Given the description of an element on the screen output the (x, y) to click on. 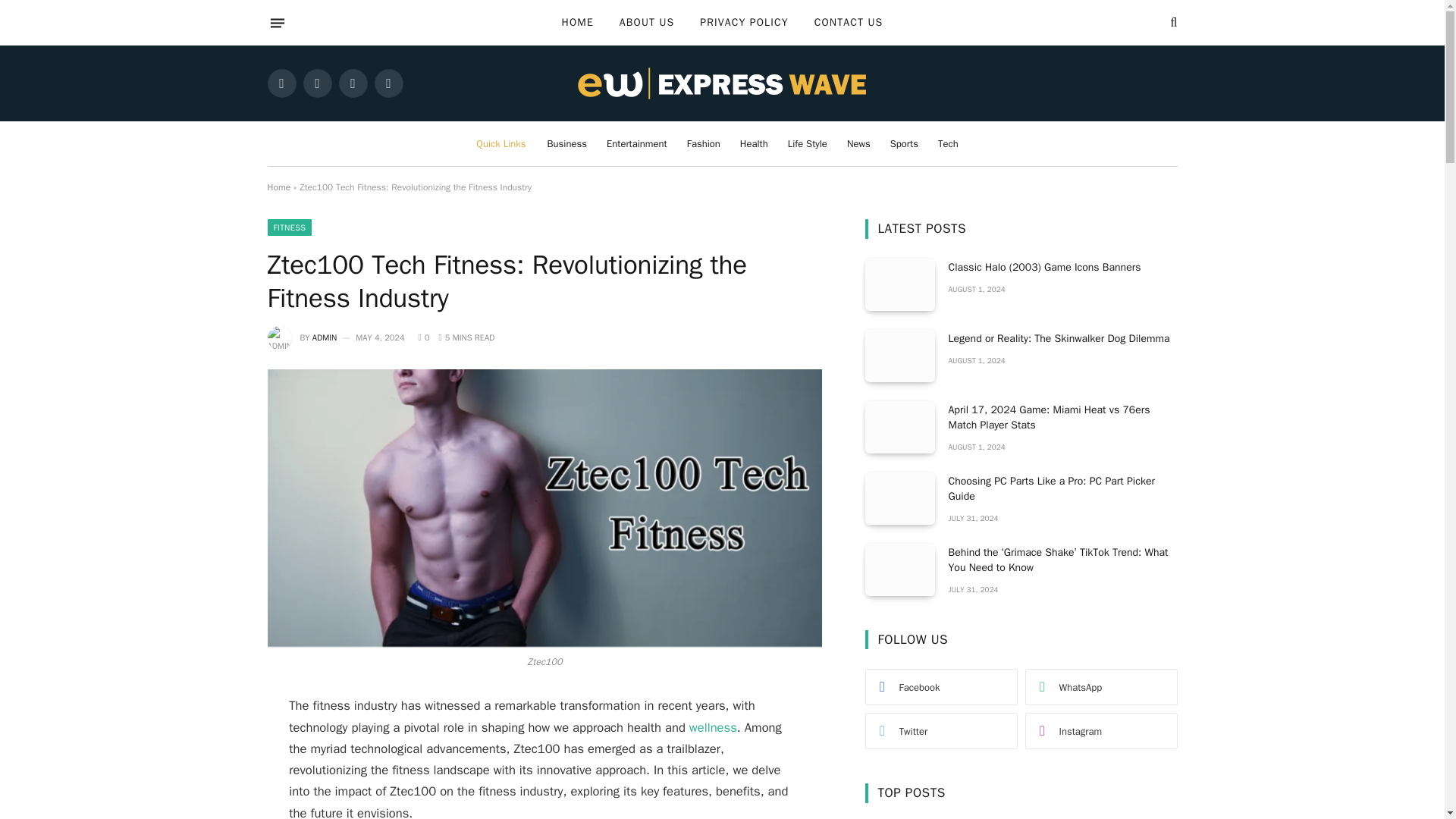
Pinterest (388, 82)
Health (753, 143)
PRIVACY POLICY (743, 22)
Fashion (703, 143)
Facebook (280, 82)
0 (424, 337)
HOME (577, 22)
CONTACT US (849, 22)
Instagram (351, 82)
ADMIN (325, 337)
Tech (948, 143)
FITNESS (288, 227)
Entertainment (636, 143)
ABOUT US (647, 22)
